Given the description of an element on the screen output the (x, y) to click on. 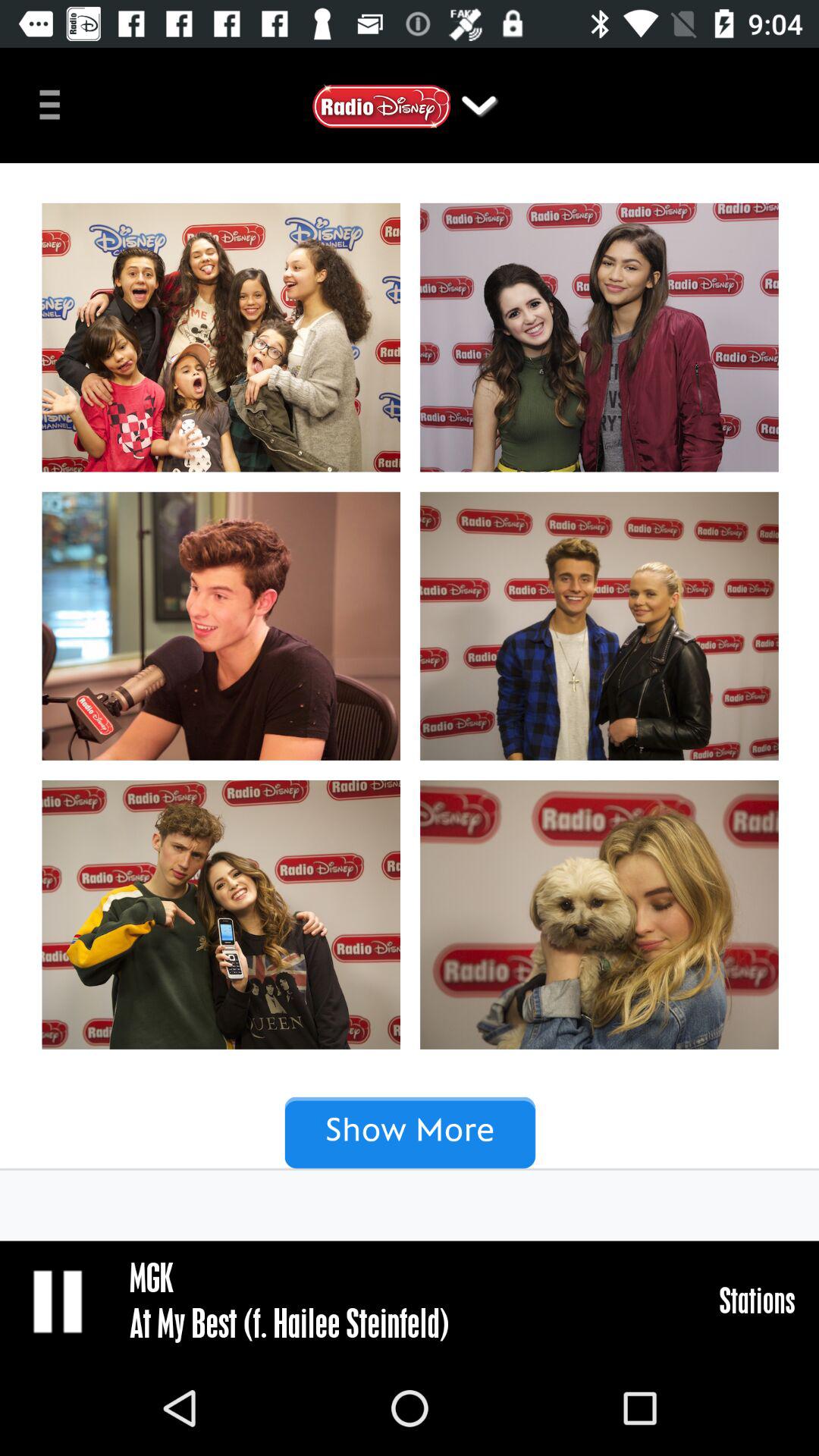
click pause button (59, 1300)
